Given the description of an element on the screen output the (x, y) to click on. 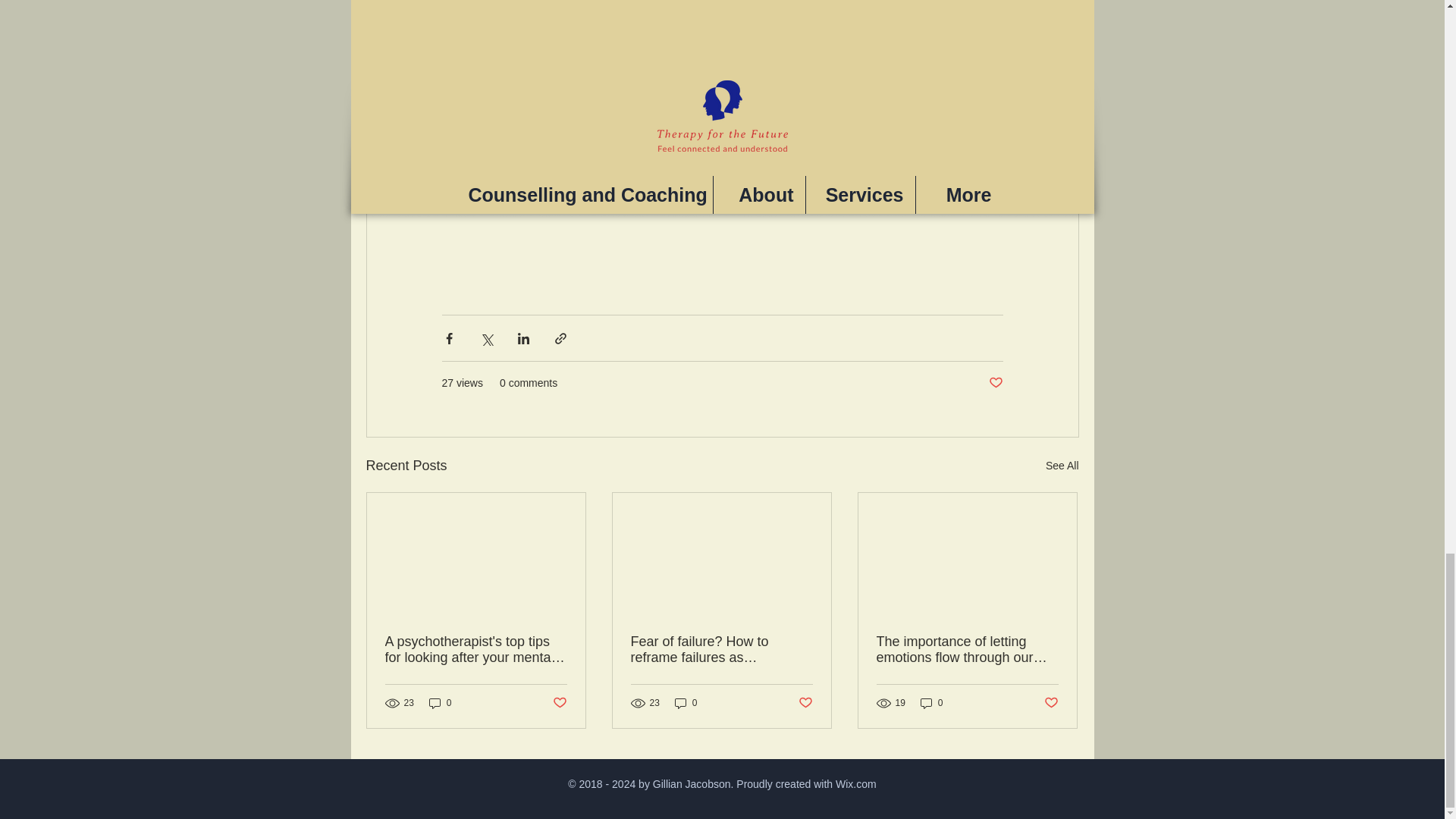
Post not marked as liked (1050, 702)
0 (440, 703)
Post not marked as liked (558, 702)
0 (685, 703)
See All (1061, 465)
Post not marked as liked (804, 702)
0 (931, 703)
